Given the description of an element on the screen output the (x, y) to click on. 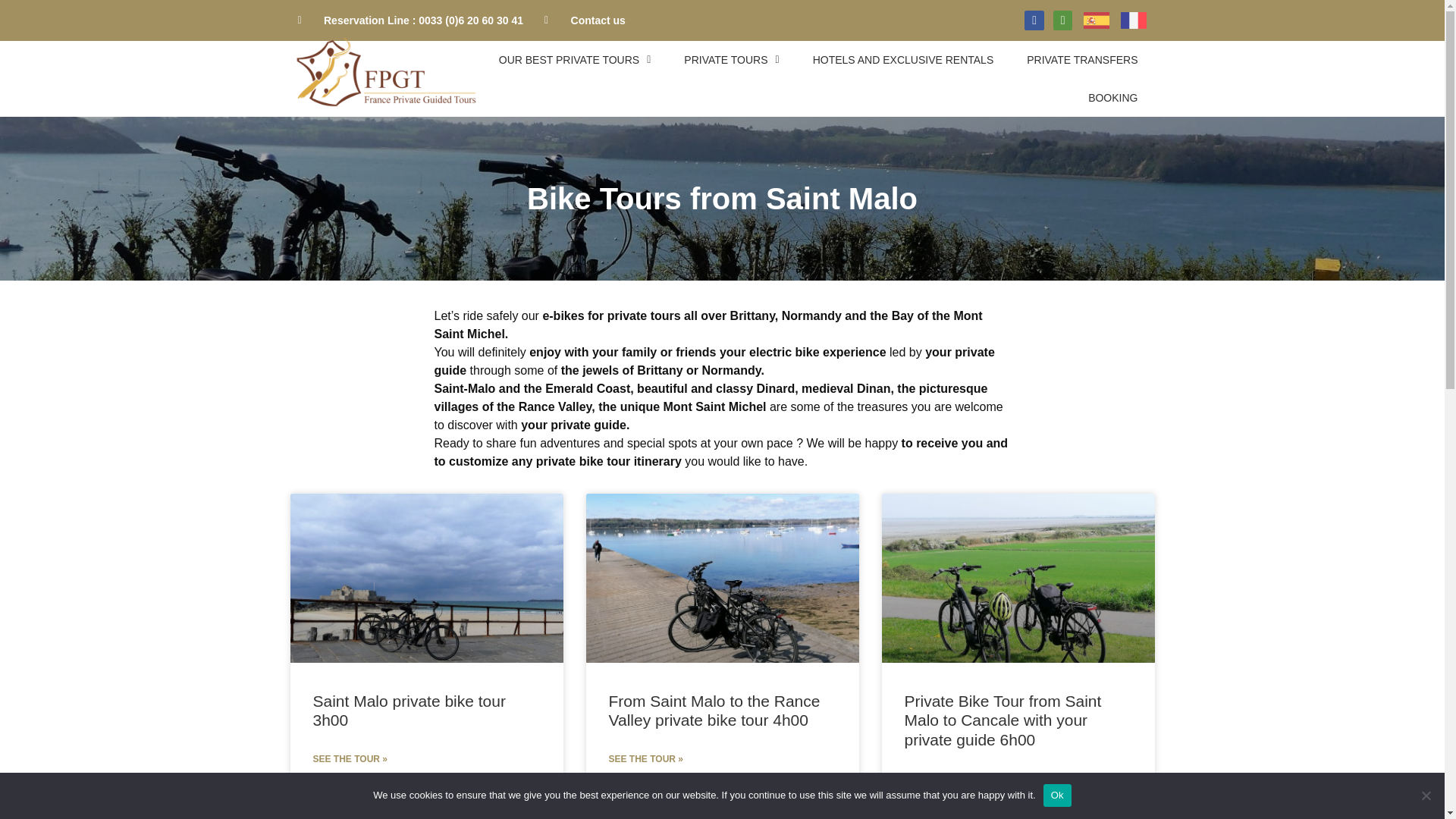
PRIVATE TRANSFERS (1082, 59)
Contact us (585, 19)
OUR BEST PRIVATE TOURS (574, 59)
No (1425, 795)
BOOKING (1112, 97)
HOTELS AND EXCLUSIVE RENTALS (903, 59)
PRIVATE TOURS (730, 59)
